Given the description of an element on the screen output the (x, y) to click on. 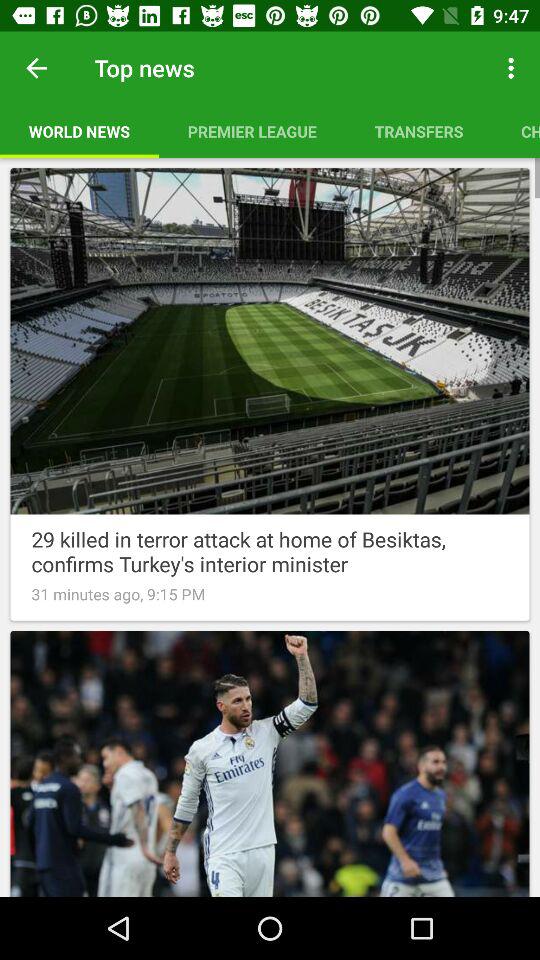
turn off champions league (516, 131)
